Given the description of an element on the screen output the (x, y) to click on. 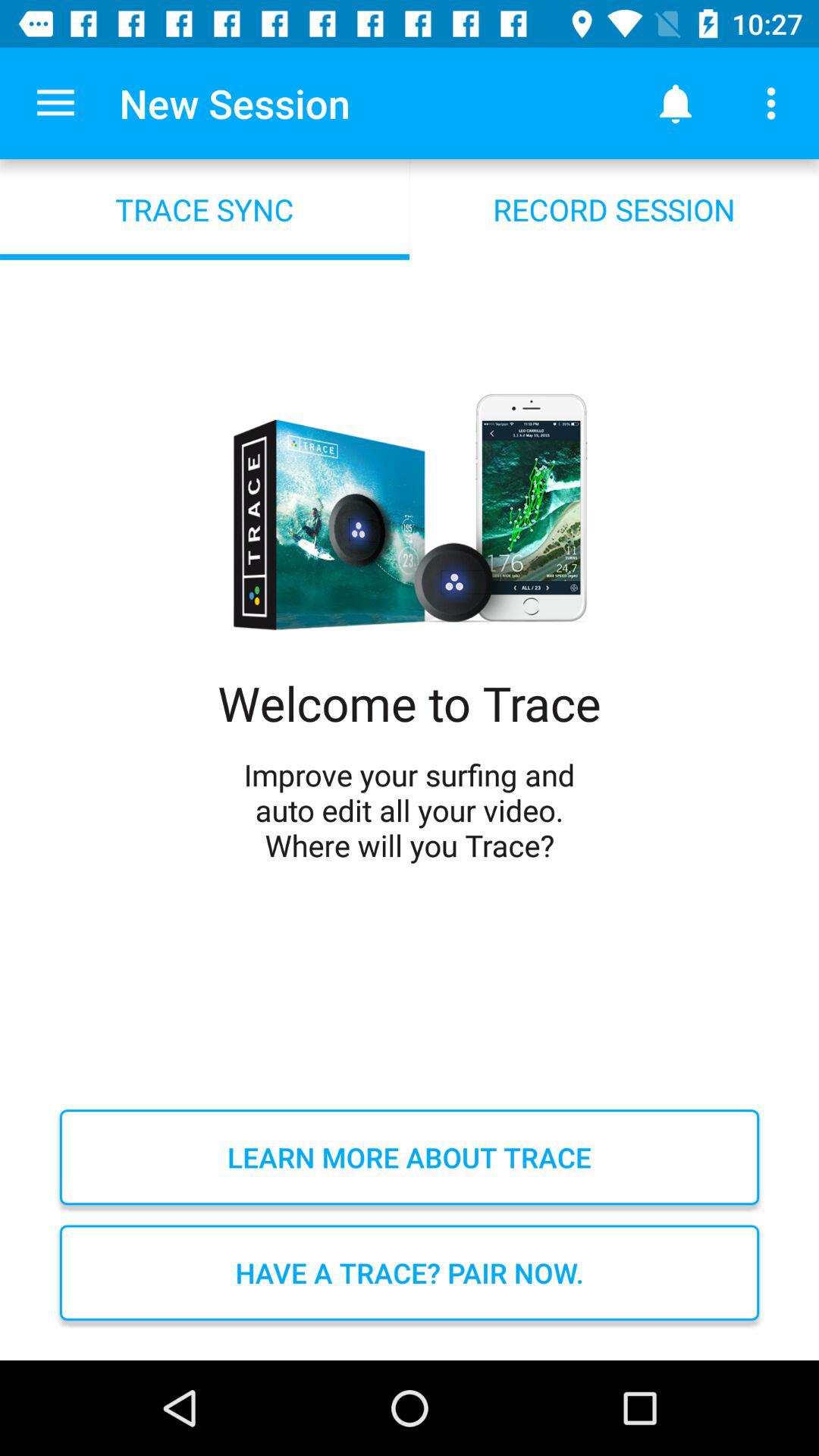
select the have a trace (409, 1272)
